Given the description of an element on the screen output the (x, y) to click on. 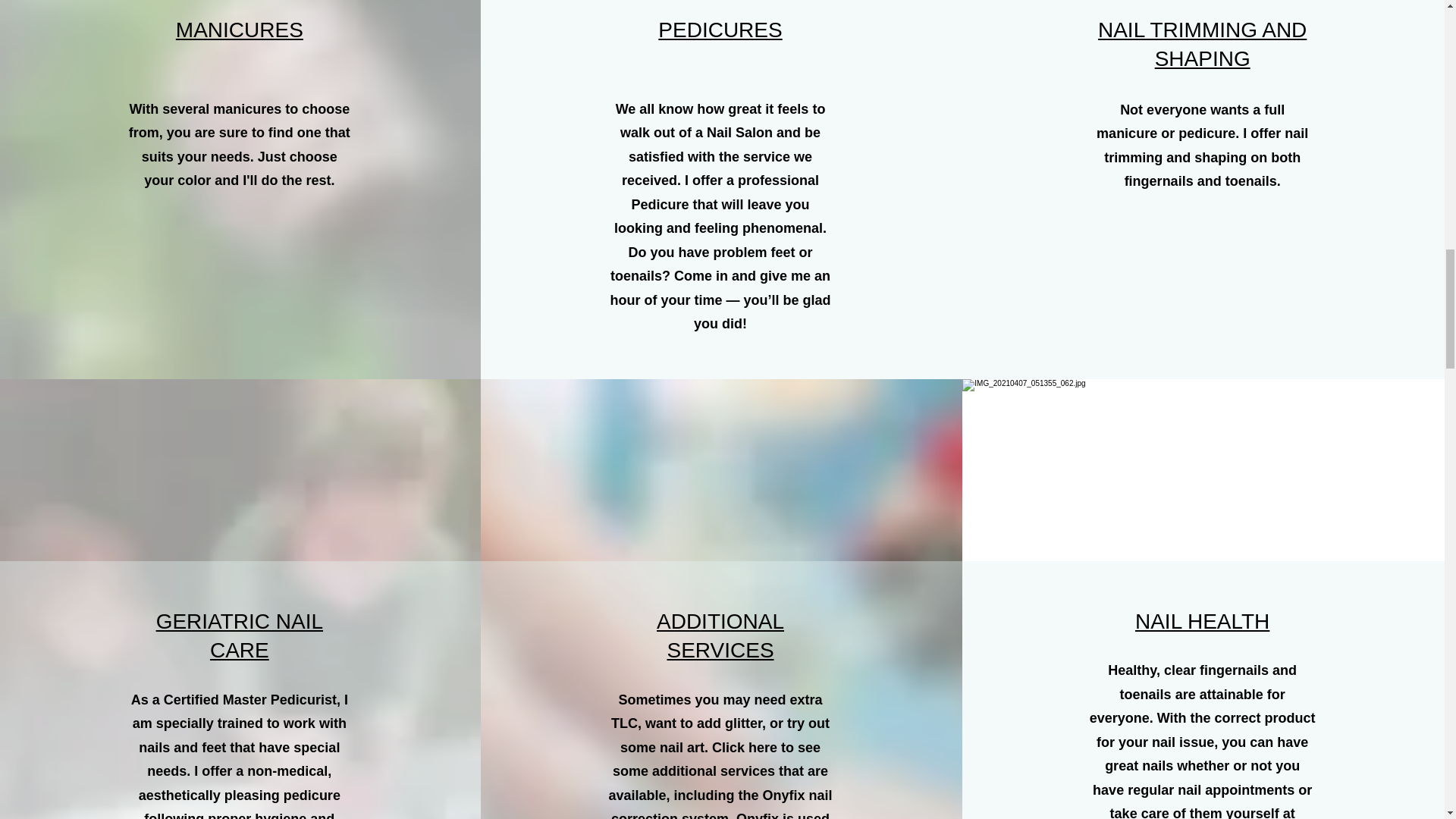
NAIL TRIMMING AND SHAPING (1201, 44)
PEDICURES (719, 29)
GERIATRIC NAIL CARE (239, 635)
MANICURES (239, 29)
ADDITIONAL SERVICES (720, 635)
NAIL HEALTH (1202, 621)
